Given the description of an element on the screen output the (x, y) to click on. 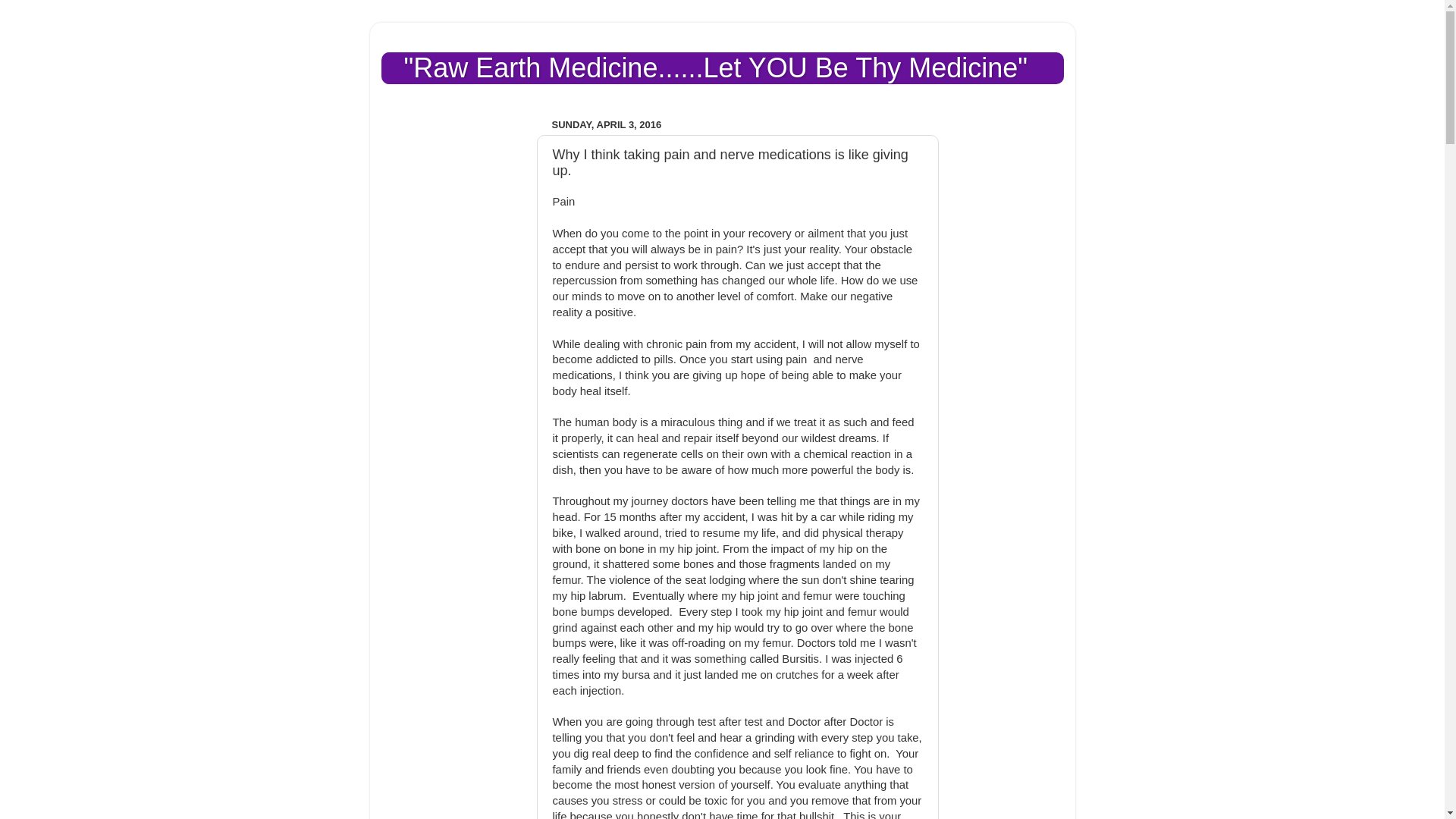
"Raw Earth Medicine......Let YOU Be Thy Medicine" (715, 67)
